Given the description of an element on the screen output the (x, y) to click on. 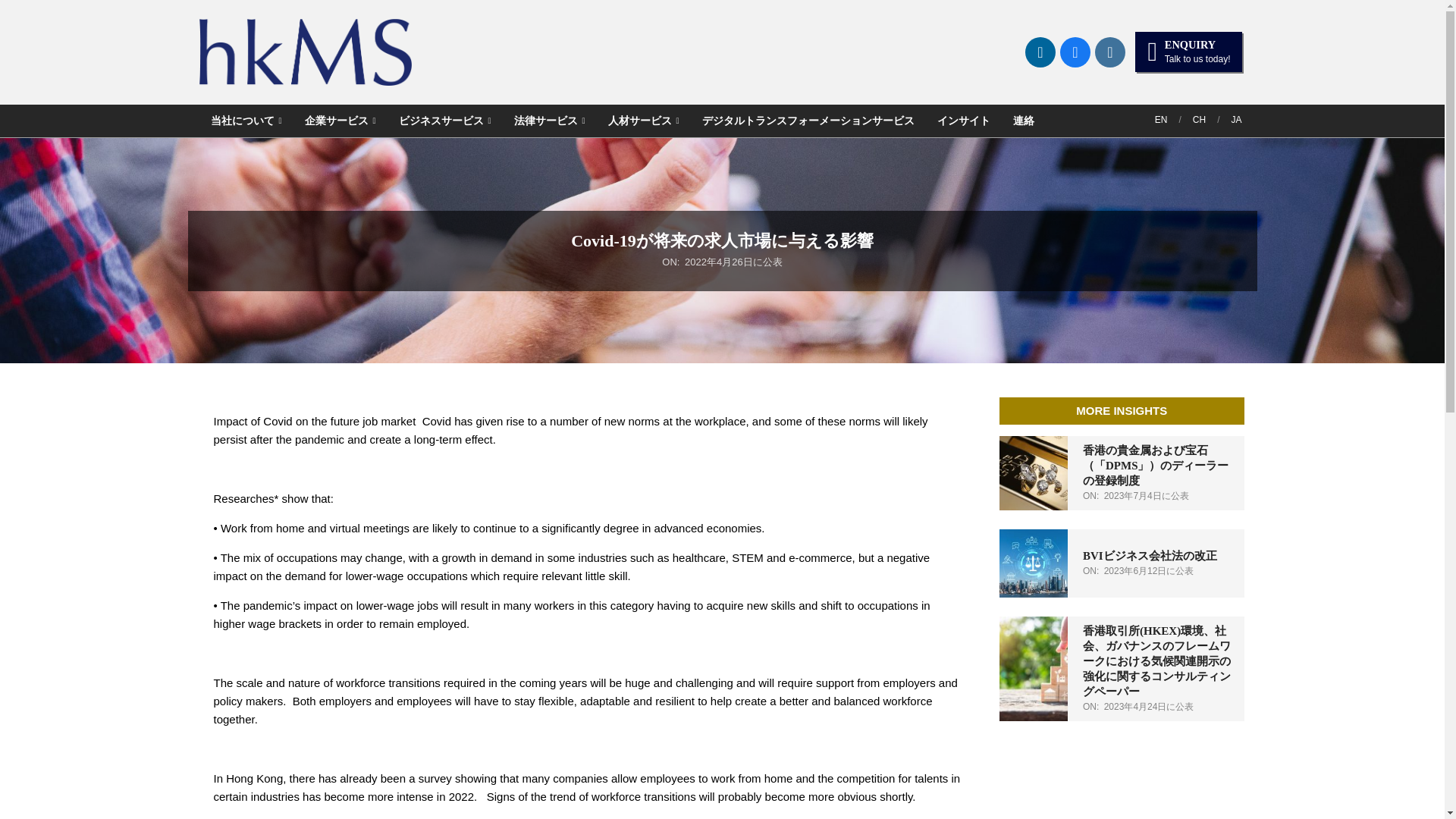
EN (1160, 119)
JA (1235, 119)
CH (1198, 119)
